Given the description of an element on the screen output the (x, y) to click on. 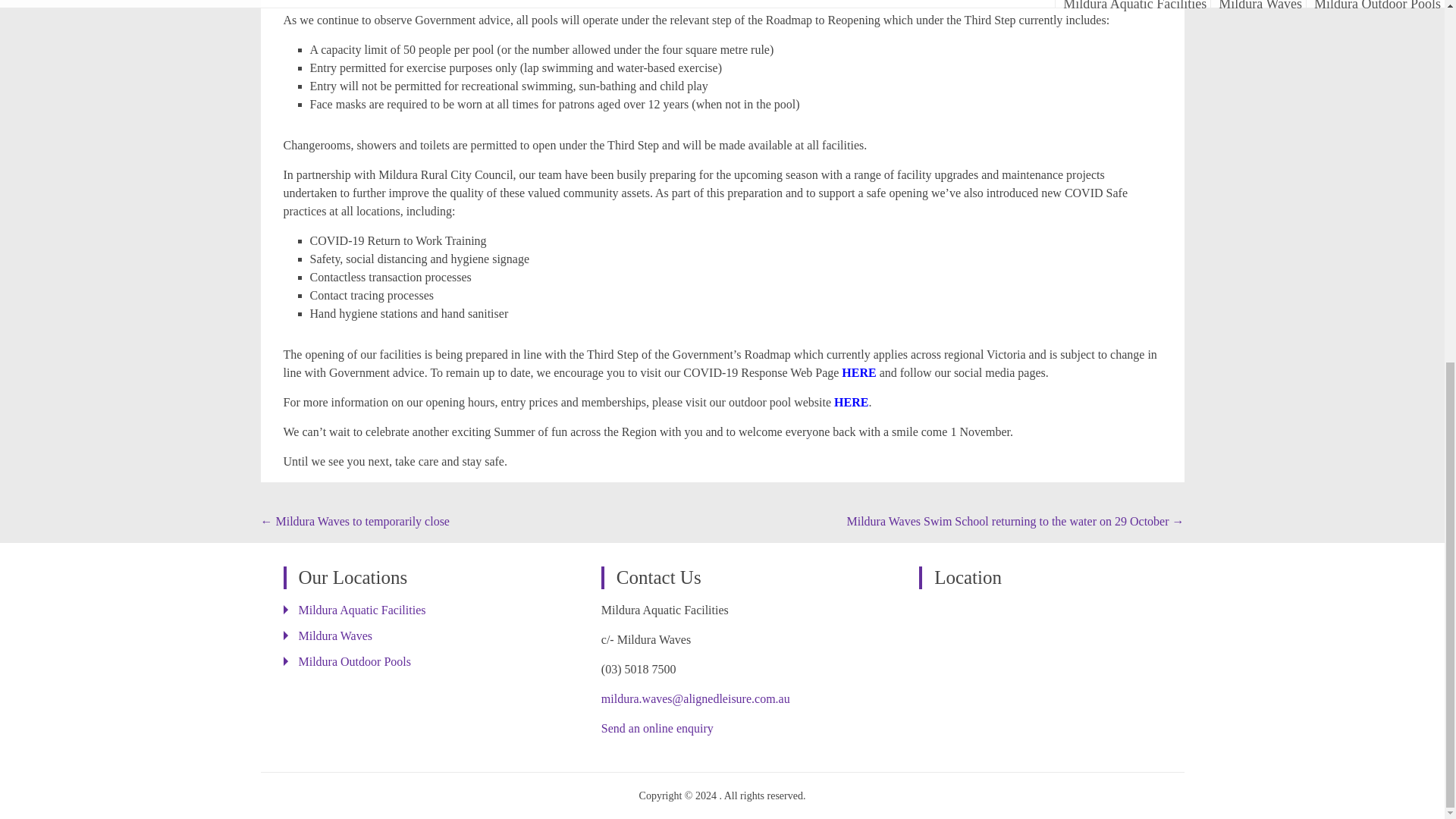
Mildura Outdoor Pools (354, 661)
Send an online enquiry (657, 727)
Mildura Waves (335, 635)
HERE (850, 401)
HERE  (860, 372)
Mildura Aquatic Facilities (362, 609)
